Given the description of an element on the screen output the (x, y) to click on. 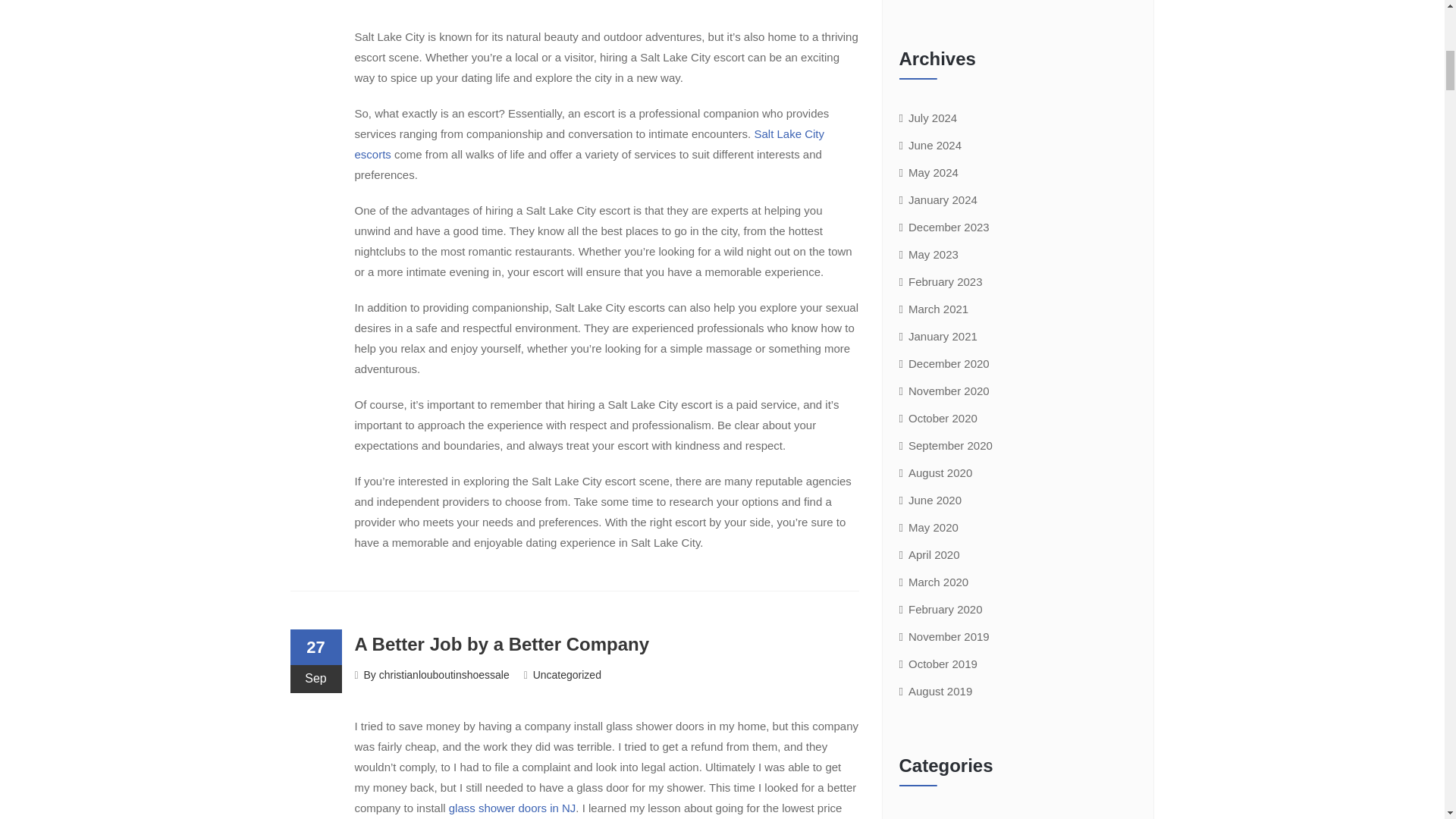
glass shower doors in NJ (512, 807)
Uncategorized (566, 674)
Salt Lake City escorts (590, 143)
christianlouboutinshoessale (443, 674)
A Better Job by a Better Company (502, 643)
